Given the description of an element on the screen output the (x, y) to click on. 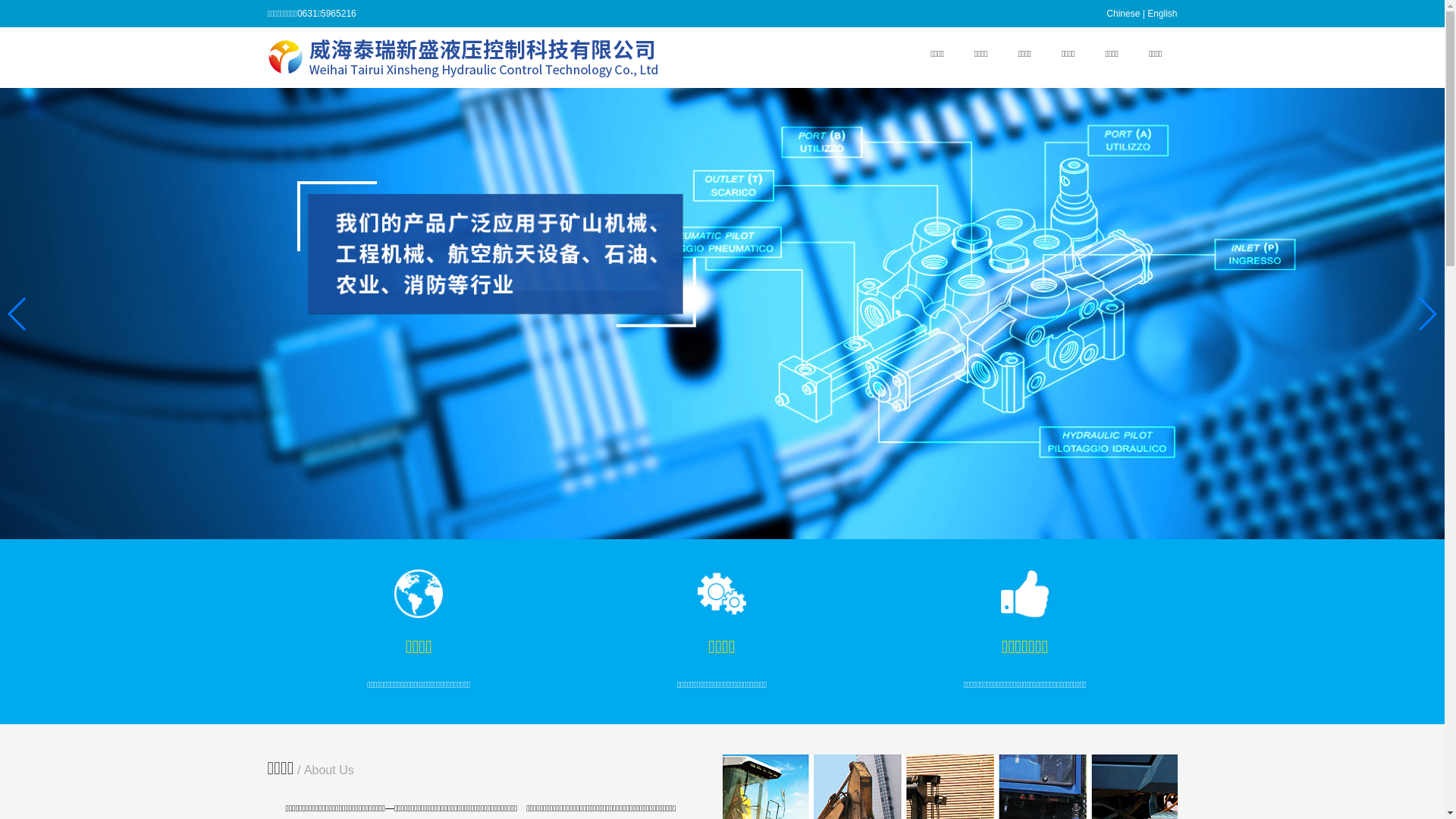
Chinese Element type: text (1122, 13)
English Element type: text (1161, 13)
